Given the description of an element on the screen output the (x, y) to click on. 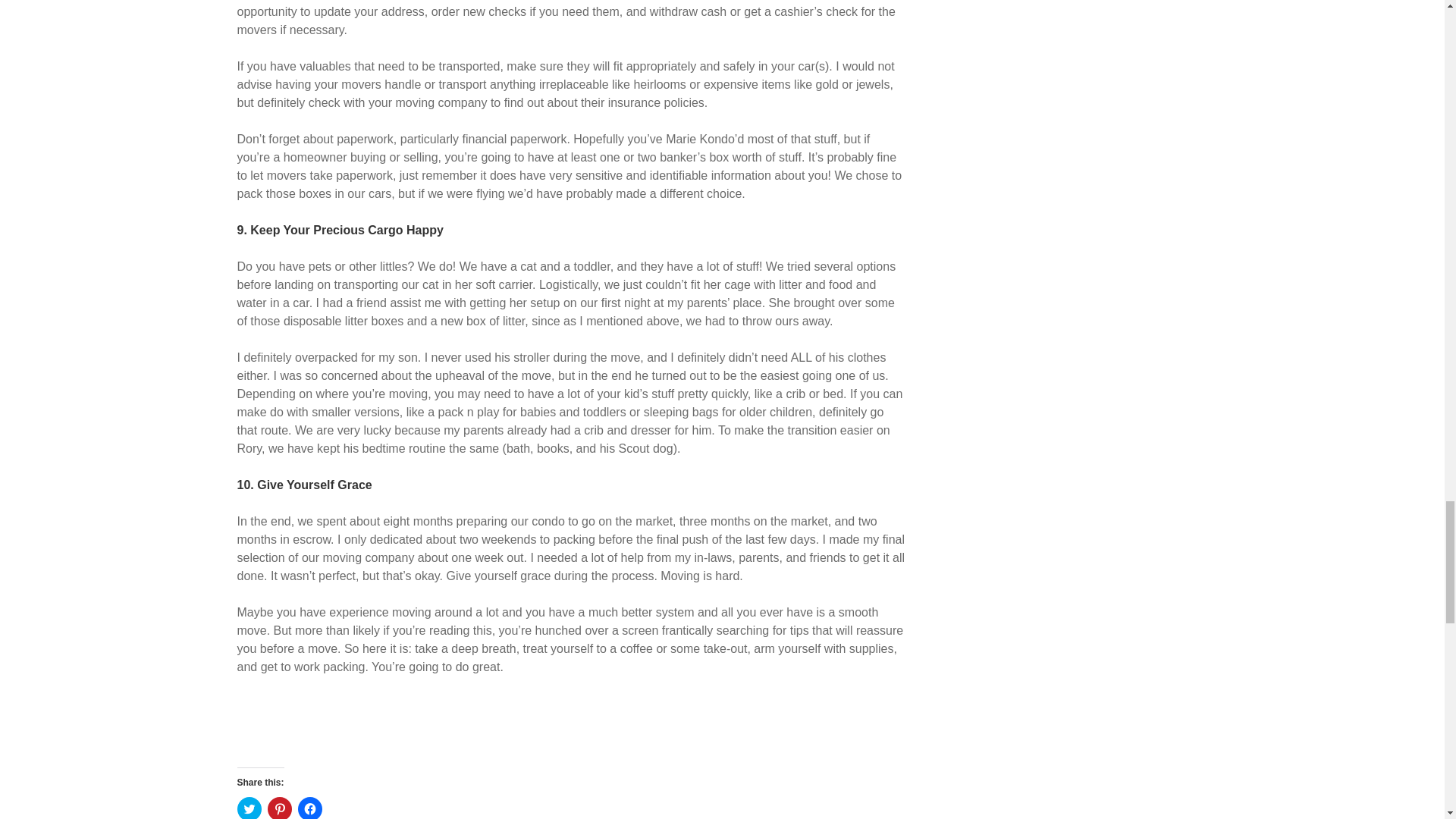
Click to share on Pinterest (278, 807)
Click to share on Twitter (247, 807)
Click to share on Facebook (309, 807)
